Given the description of an element on the screen output the (x, y) to click on. 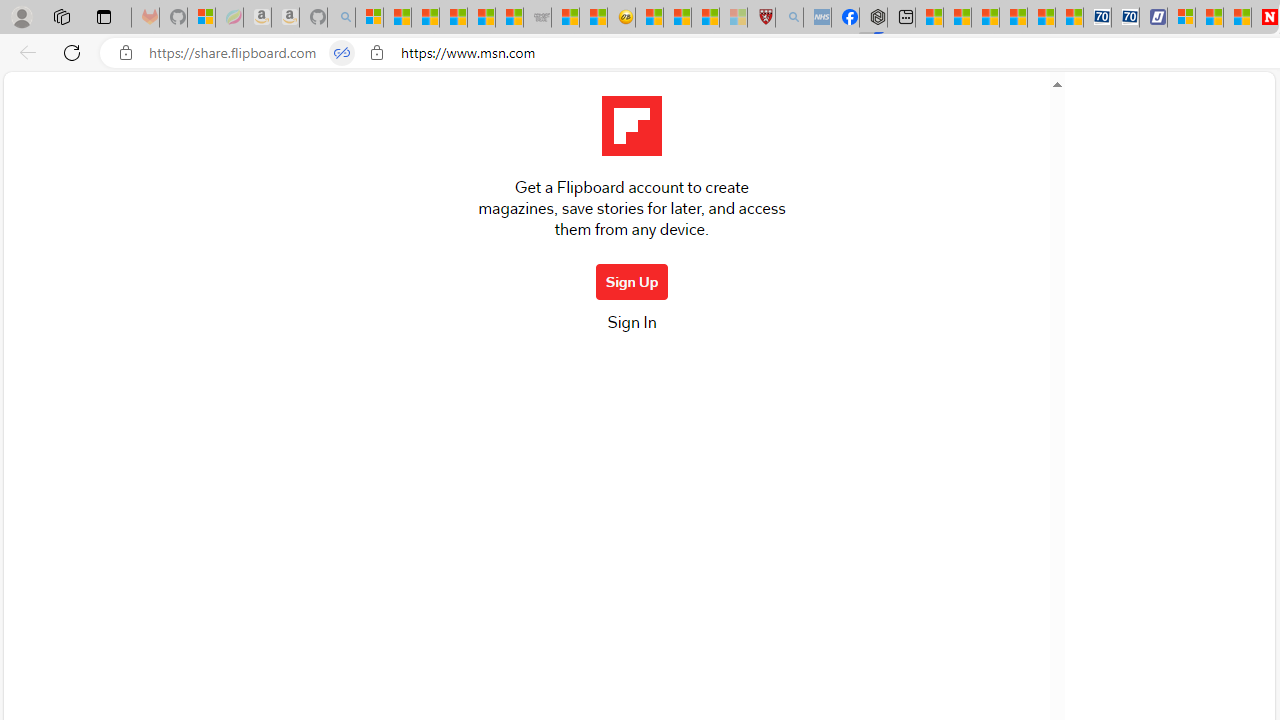
Sign In (631, 327)
The Weather Channel - MSN (425, 17)
Cheap Car Rentals - Save70.com (1097, 17)
